Given the description of an element on the screen output the (x, y) to click on. 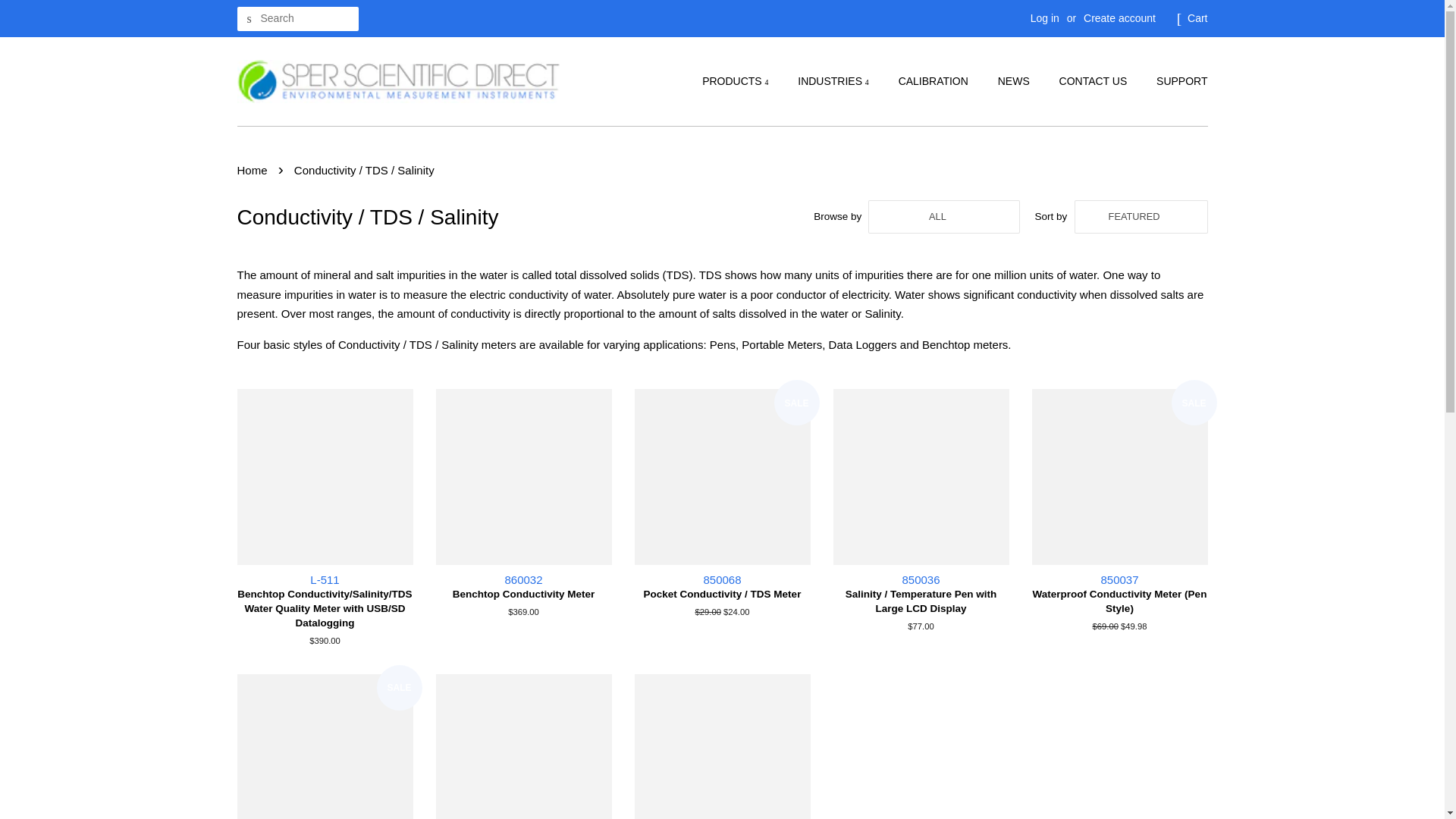
Cart (1197, 18)
SEARCH (247, 18)
Log in (1044, 18)
Back to the home page (252, 169)
Create account (1119, 18)
